Given the description of an element on the screen output the (x, y) to click on. 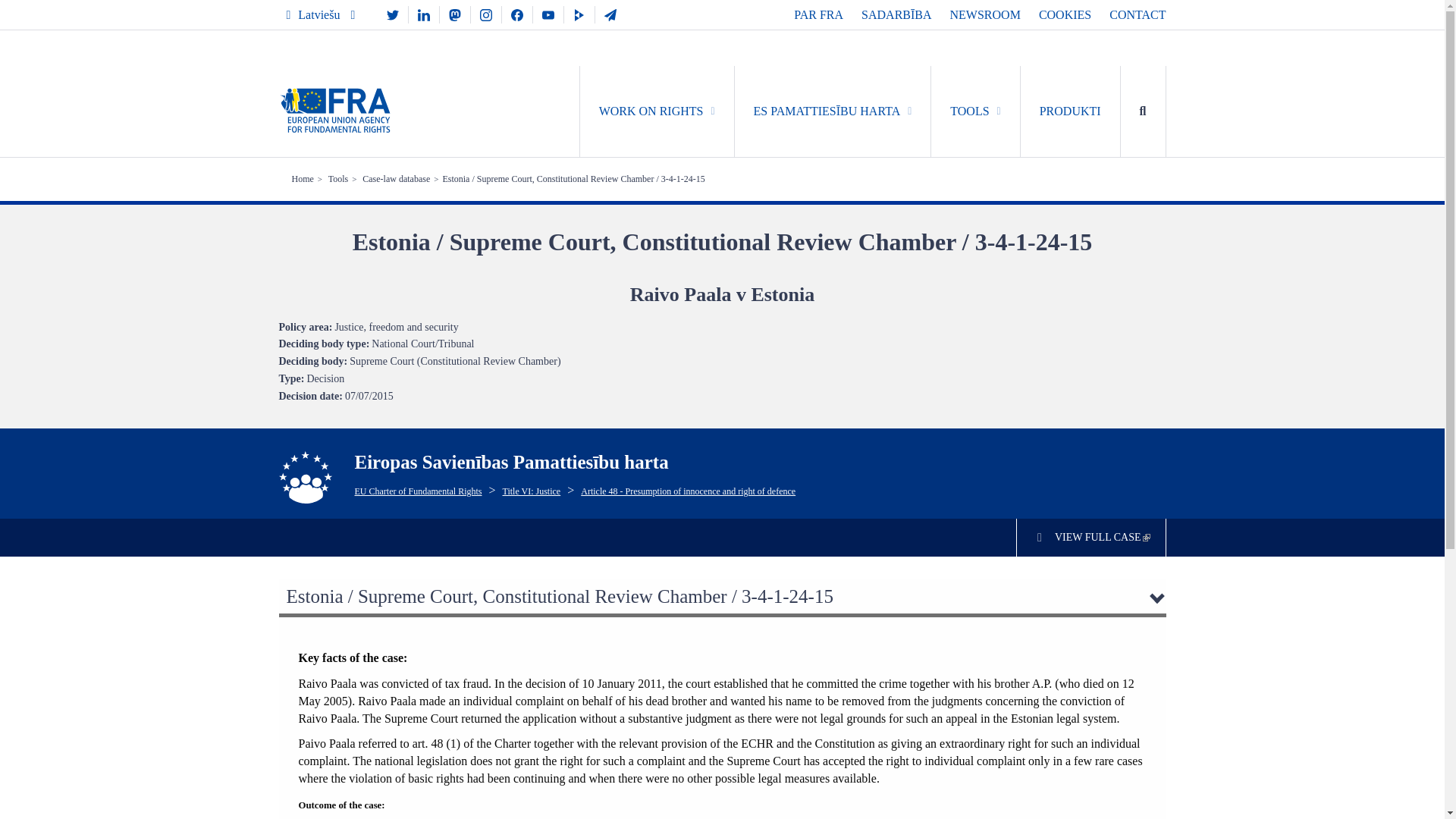
Subscribe to FRA's newsletter (610, 13)
Mastodon (454, 13)
NEWSROOM (985, 14)
Newsletter (610, 13)
FRA's YouTube channel (547, 13)
Facebook (517, 13)
CONTACT (1137, 14)
FRA's Twitter channel (392, 13)
FRA's PeerTube channel (579, 13)
YouTube (547, 13)
